Given the description of an element on the screen output the (x, y) to click on. 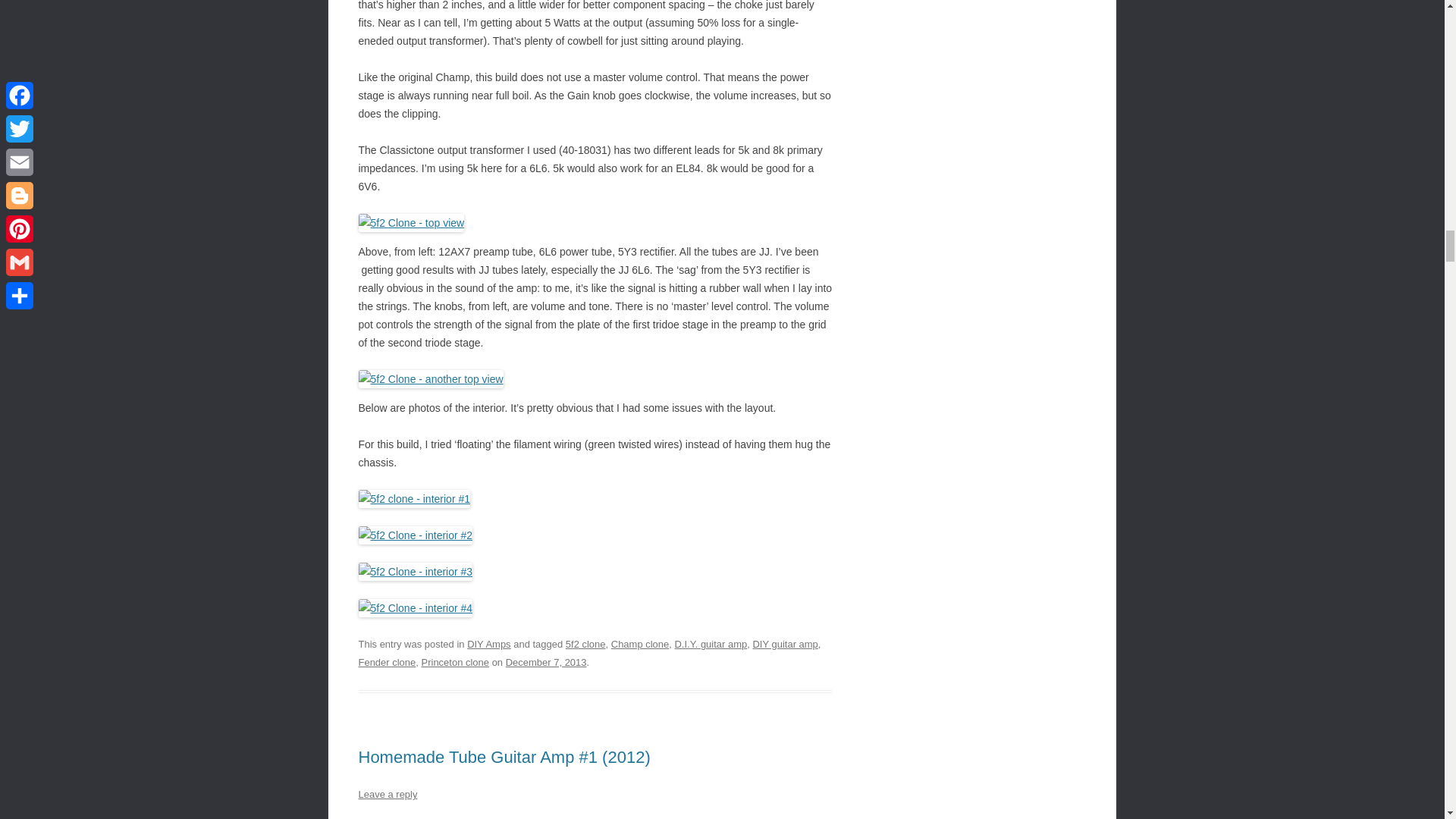
2:09 pm (545, 662)
